Given the description of an element on the screen output the (x, y) to click on. 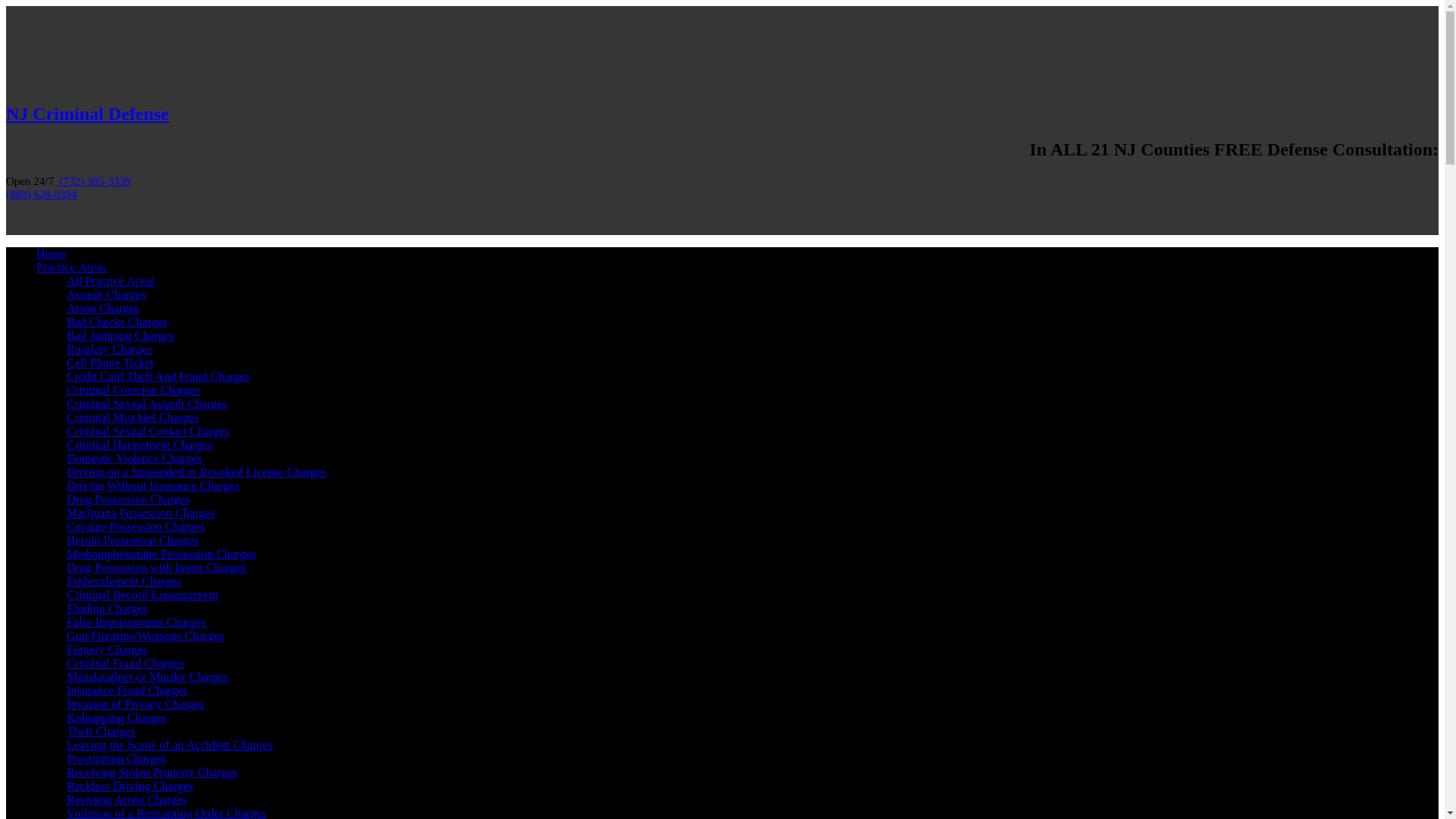
Manslaughter or Murder Charges (147, 676)
Home (50, 253)
Methamphetamine Possession Charges (161, 553)
Bad Checks Charges (116, 321)
Drug Possession with Intent Charges (156, 567)
Theft Charges (100, 730)
Kidnapping Charges (116, 717)
Driving Without Insurance Charges (153, 485)
Criminal Sexual Contact Charges (147, 431)
Cocaine Possession Charges (135, 526)
